Given the description of an element on the screen output the (x, y) to click on. 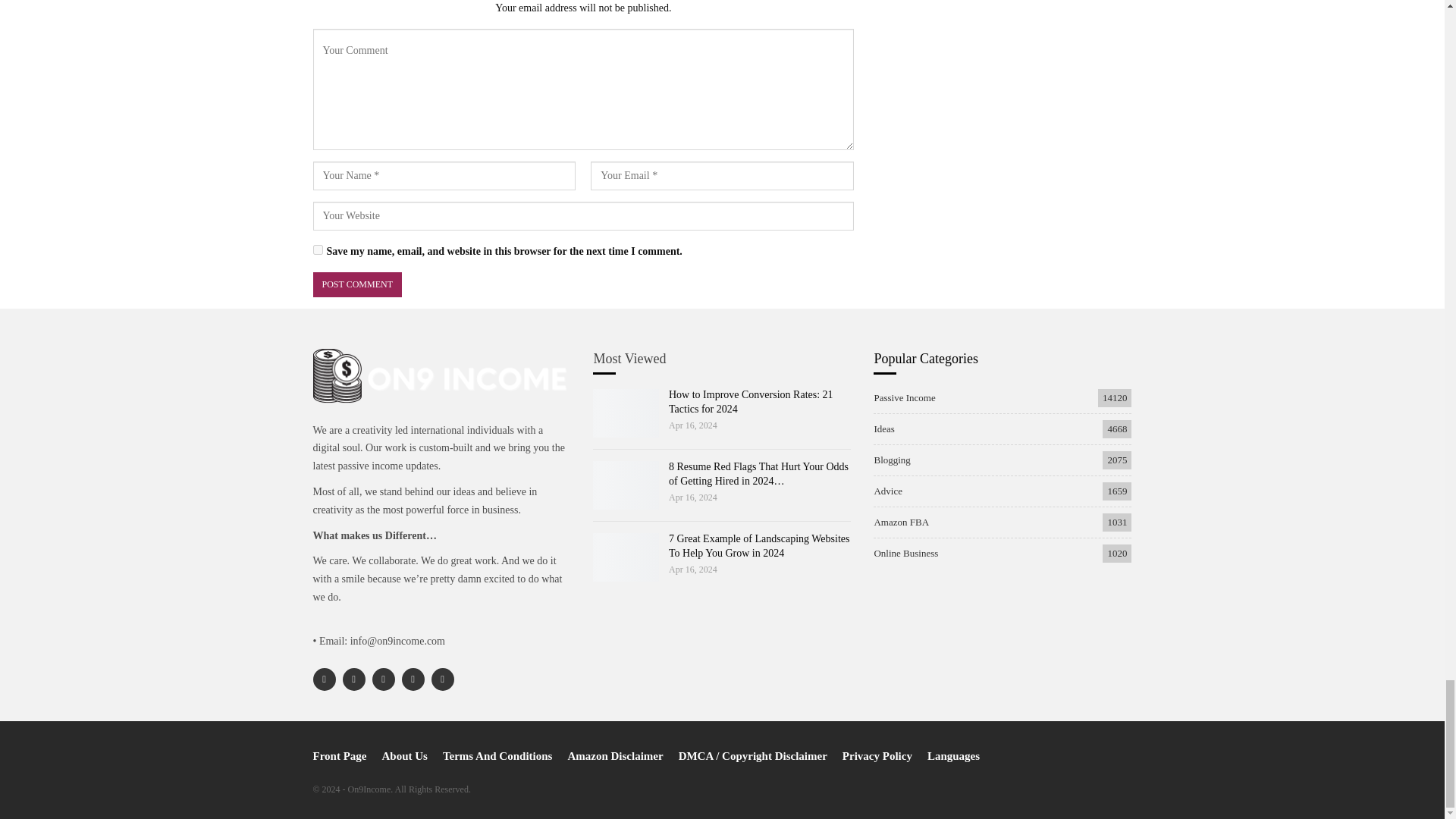
yes (317, 249)
Post Comment (357, 284)
